Given the description of an element on the screen output the (x, y) to click on. 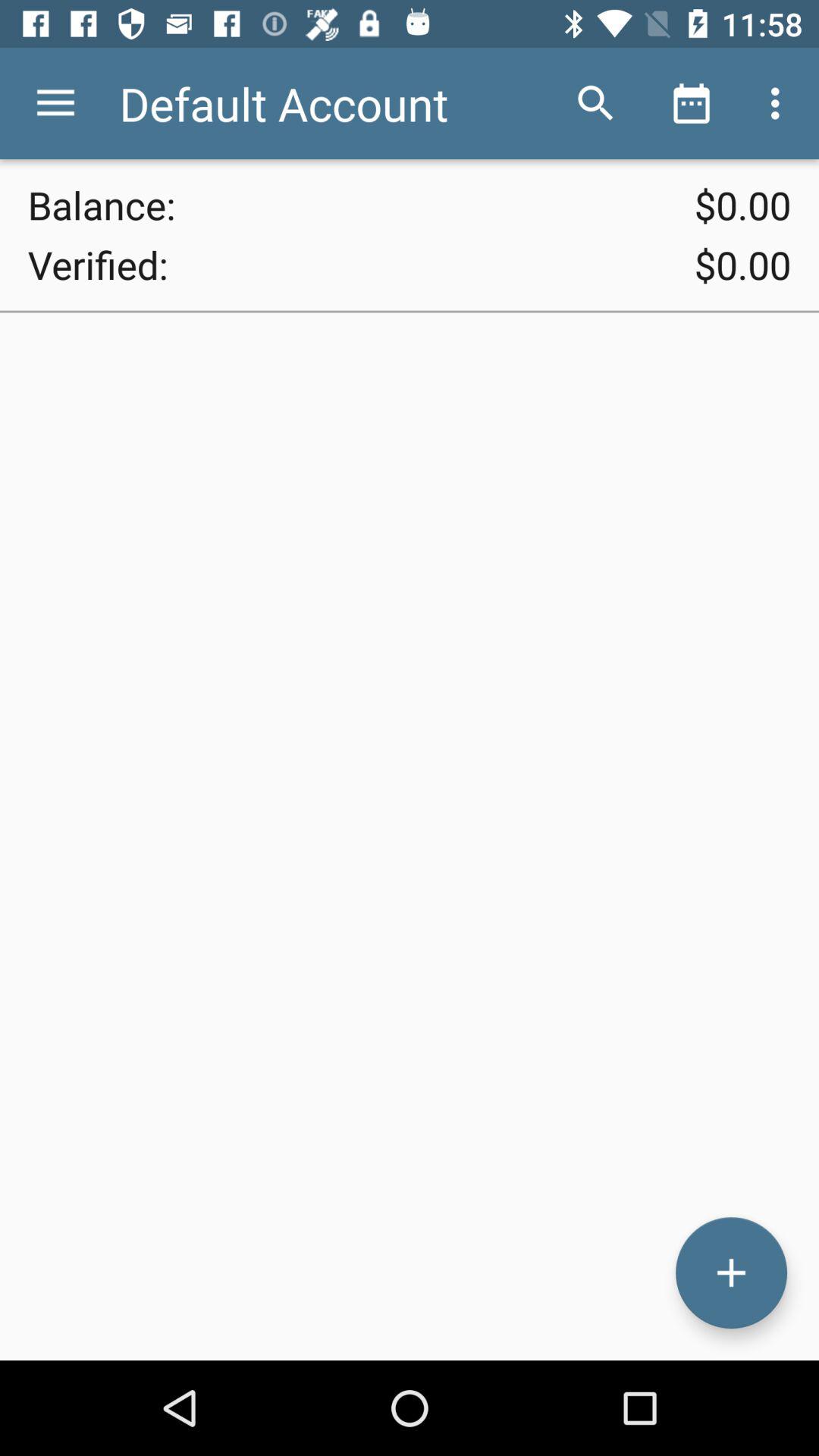
select the item to the right of default account icon (595, 103)
